Given the description of an element on the screen output the (x, y) to click on. 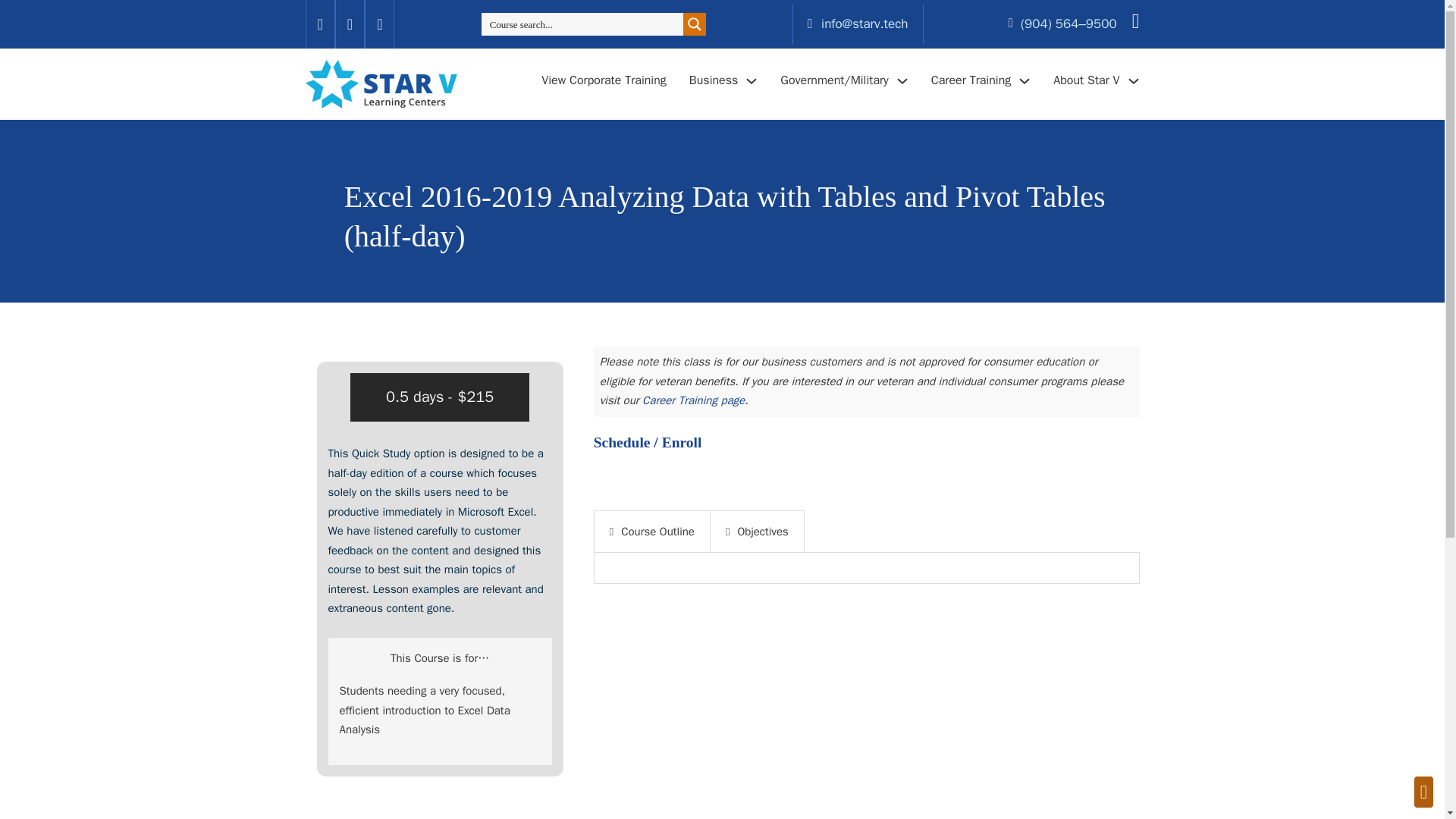
View Corporate Training (603, 83)
Career Training (970, 83)
About Star V (1085, 83)
Business (713, 83)
